Given the description of an element on the screen output the (x, y) to click on. 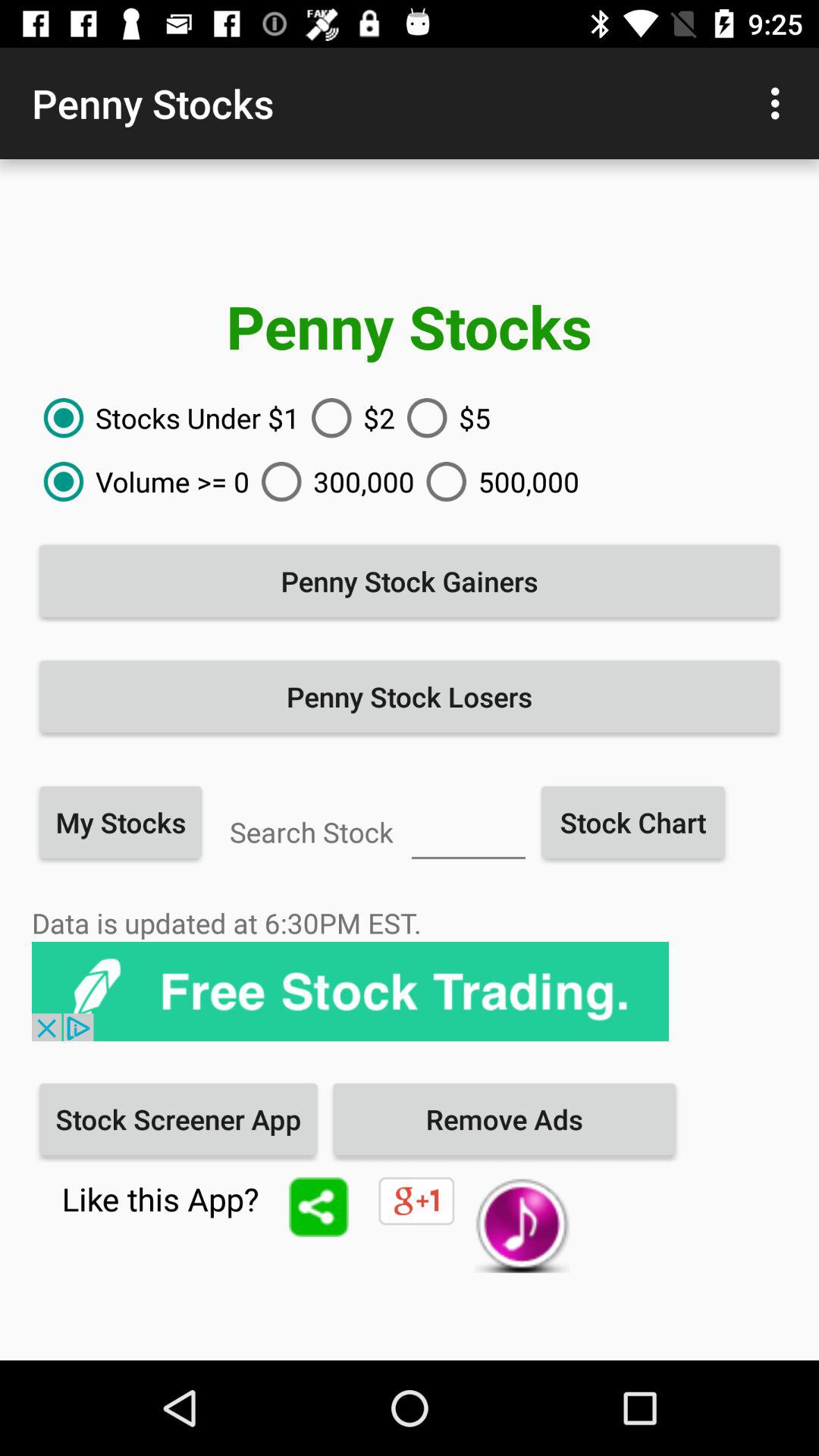
type stock chart (468, 829)
